Given the description of an element on the screen output the (x, y) to click on. 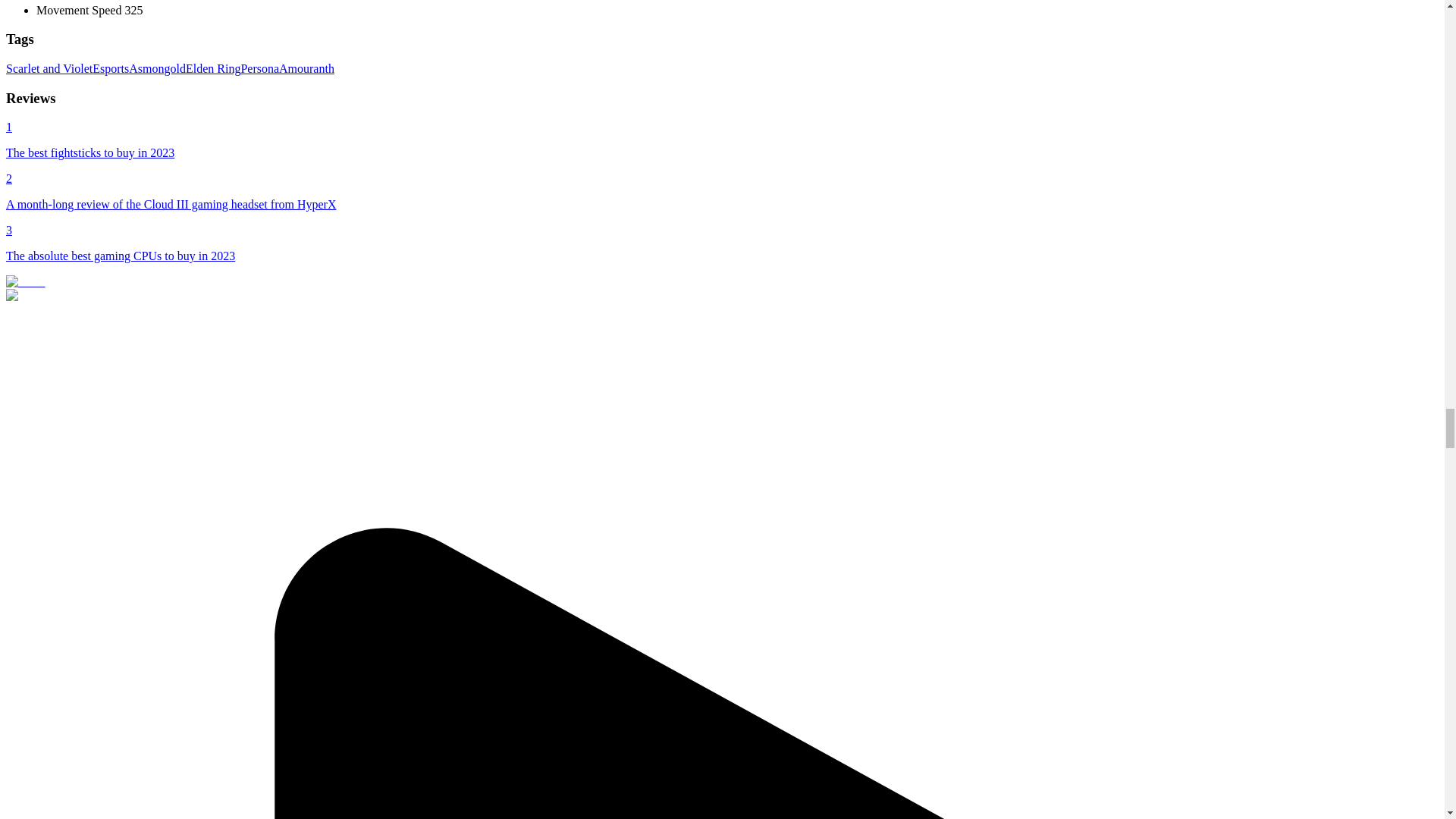
Scarlet and Violet (49, 68)
Persona (259, 68)
Asmongold (157, 68)
Amouranth (306, 68)
Esports (111, 68)
Elden Ring (213, 68)
